Given the description of an element on the screen output the (x, y) to click on. 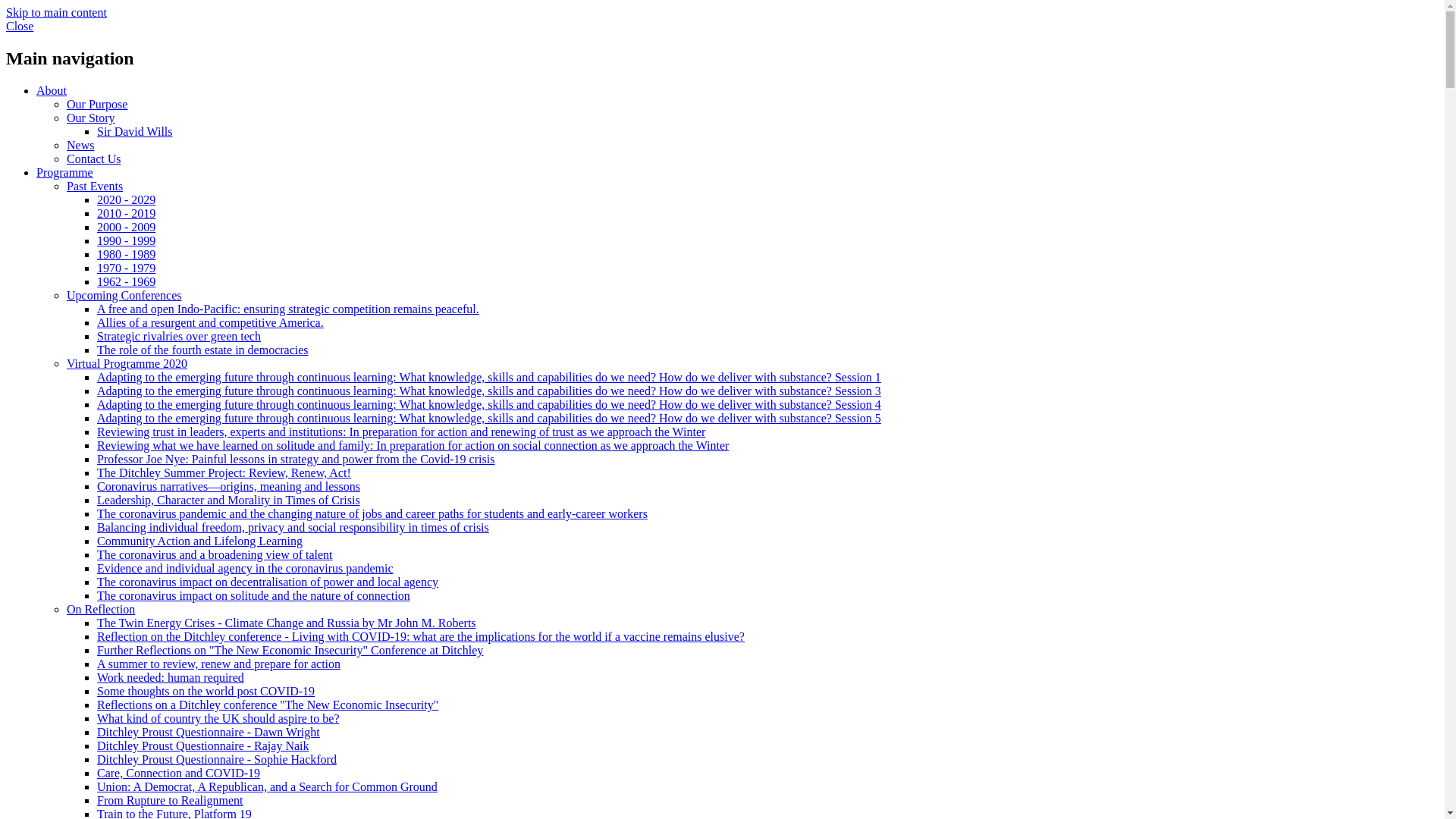
About (51, 90)
Programme (64, 172)
News (80, 144)
Allies of a resurgent and competitive America. (210, 322)
From Rupture to Realigment (170, 799)
The Role of the Fourth Estate in Democracies (202, 349)
Close (19, 25)
On Reflection (100, 608)
Our Story (90, 117)
2000 - 2009 (126, 226)
